Given the description of an element on the screen output the (x, y) to click on. 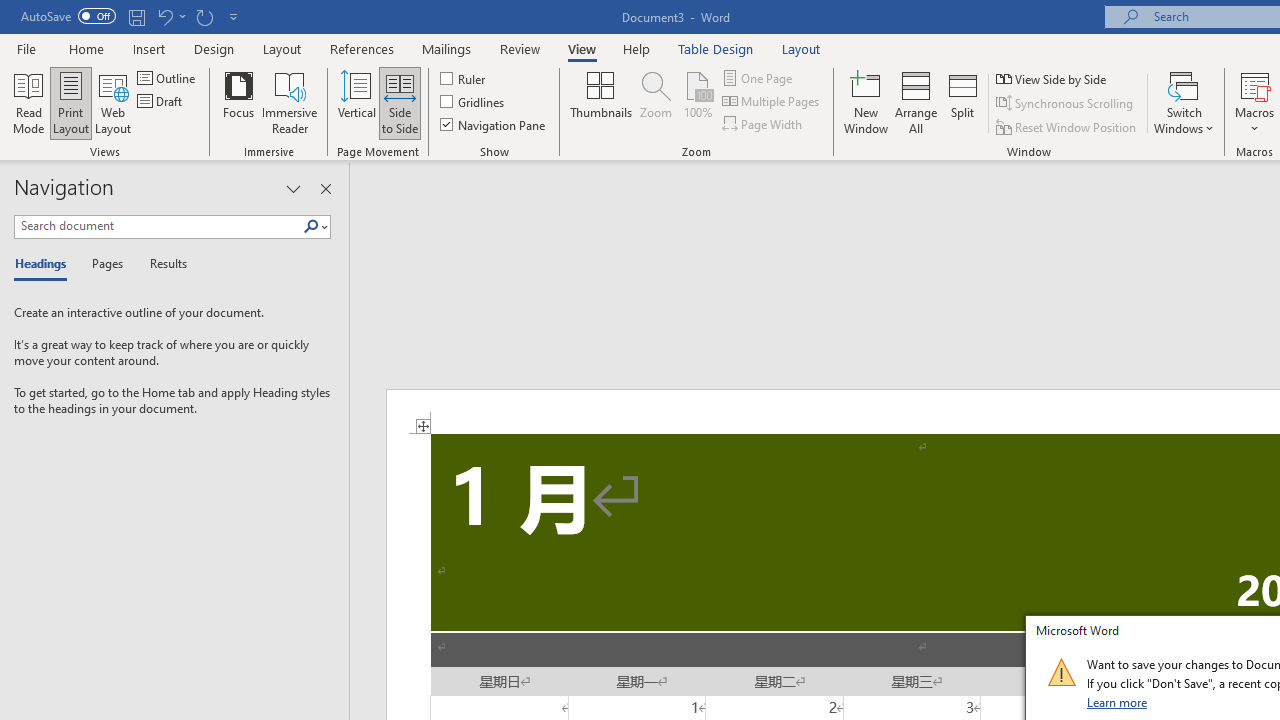
Navigation Pane (493, 124)
Vertical (356, 102)
Gridlines (473, 101)
Pages (105, 264)
Macros (1254, 102)
Side to Side (399, 102)
